Given the description of an element on the screen output the (x, y) to click on. 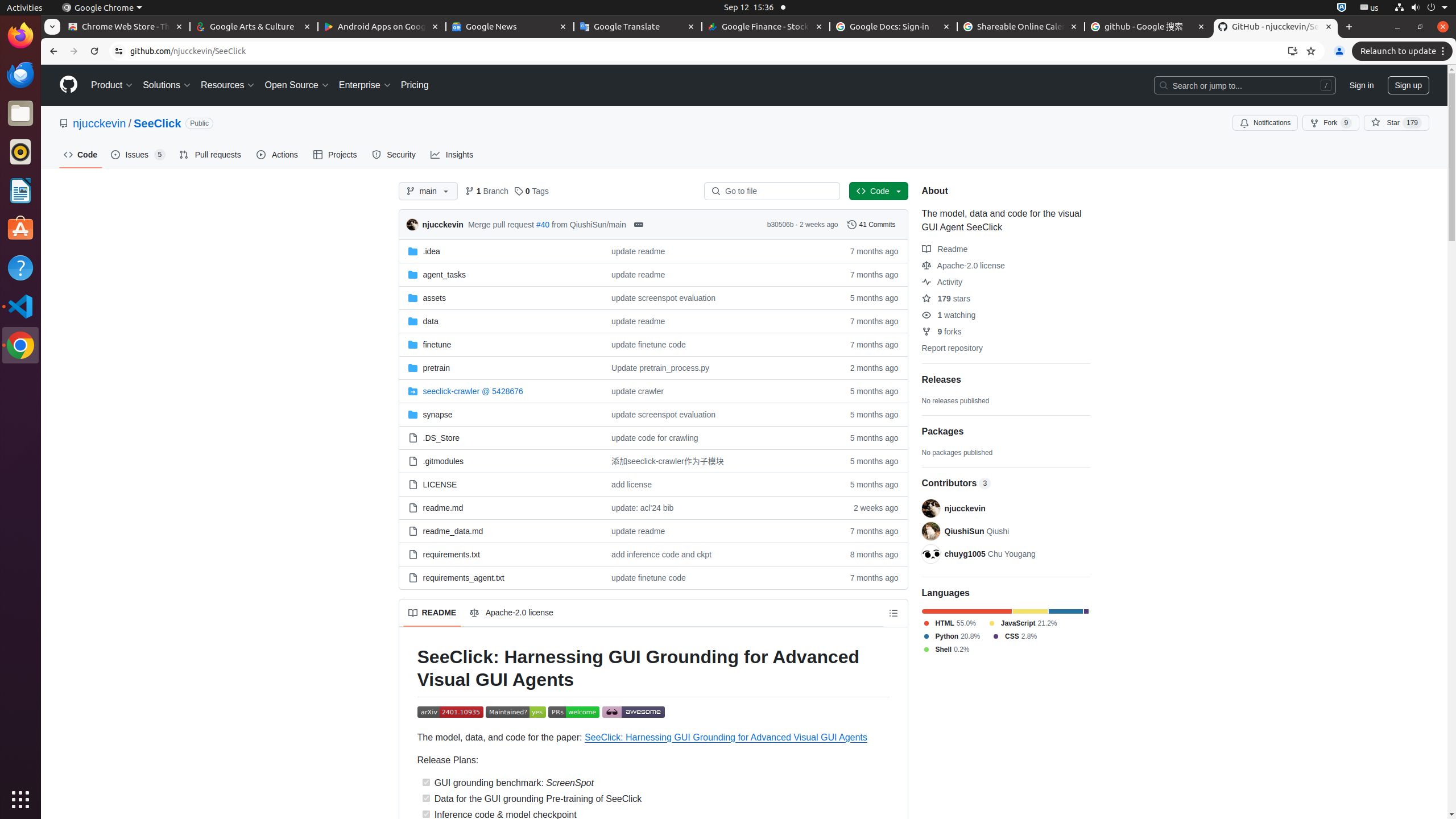
SeeClick Element type: link (157, 123)
readme.md, (File) Element type: link (442, 507)
Open Source Element type: push-button (296, 84)
data, (Directory) Element type: link (430, 320)
add inference code and ckpt Element type: table-cell (716, 553)
